Given the description of an element on the screen output the (x, y) to click on. 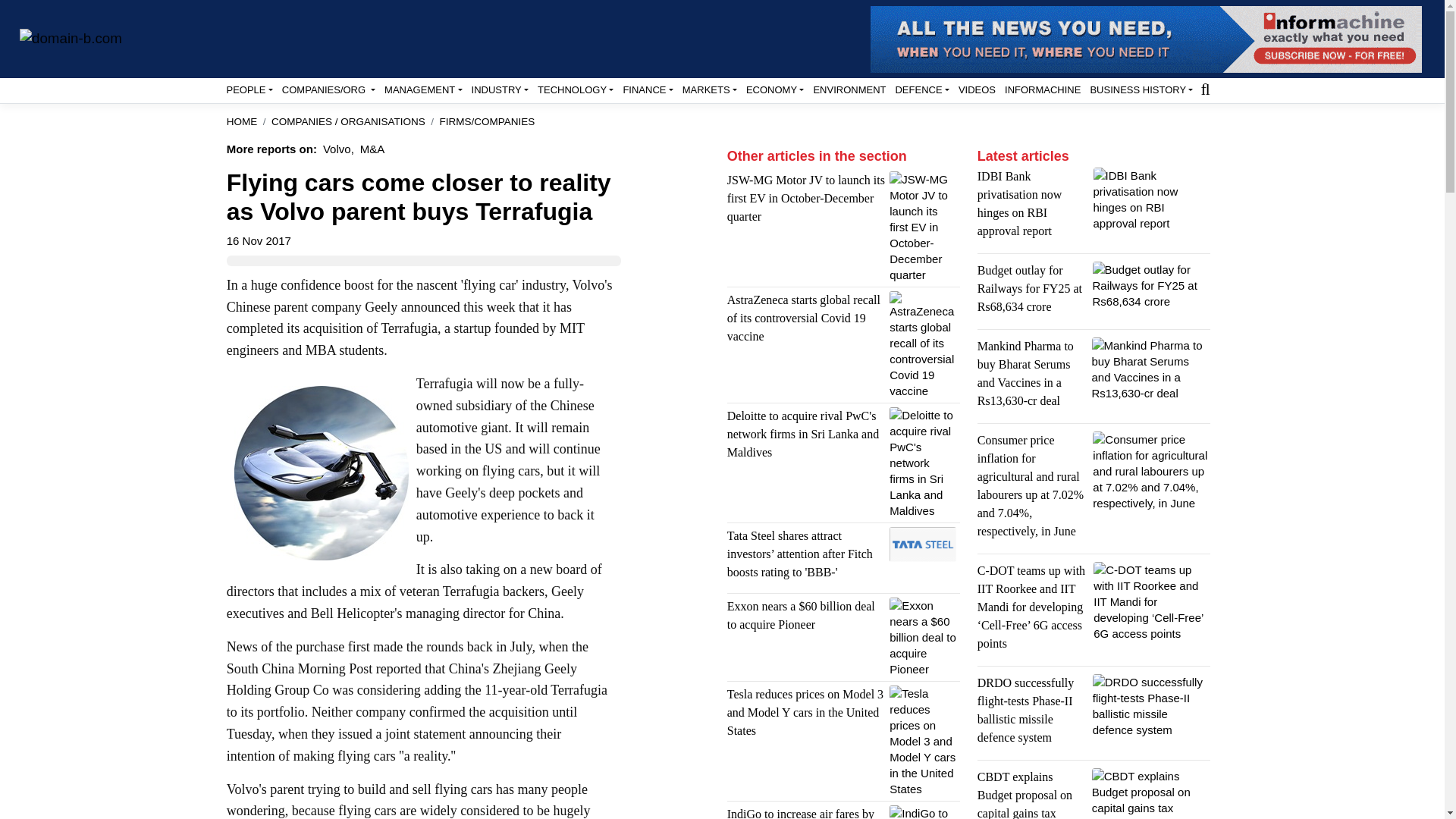
Open search box (1204, 87)
PEOPLE (248, 89)
